Given the description of an element on the screen output the (x, y) to click on. 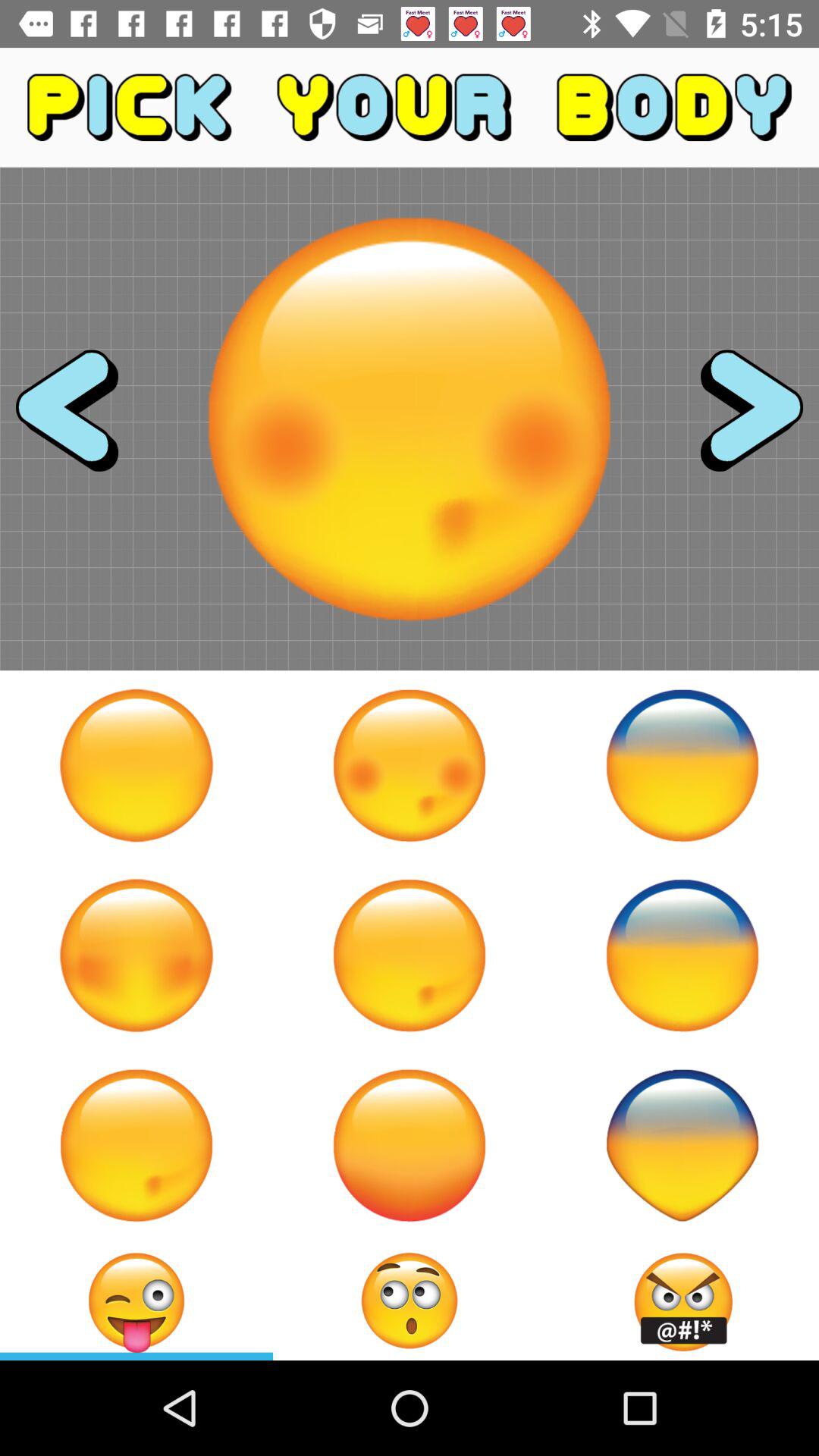
go back (81, 418)
